Given the description of an element on the screen output the (x, y) to click on. 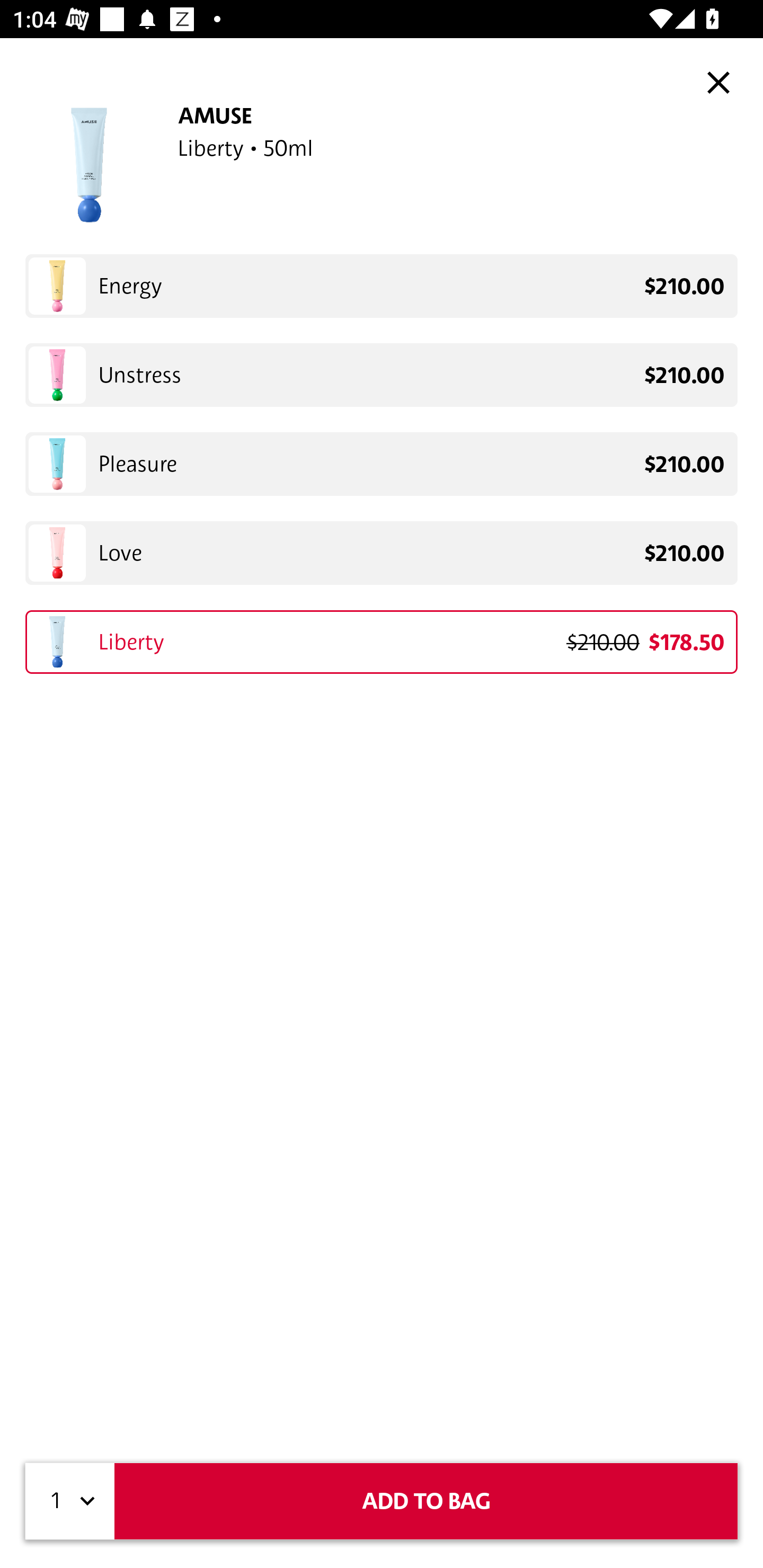
Bag (724, 81)
AMUSE Liberty • 50ml (381, 164)
Energy $210.00 (381, 285)
Unstress $210.00 (381, 375)
Pleasure $210.00 (381, 463)
Love $210.00 (381, 552)
Liberty $210.00 $178.50 (381, 641)
1 (69, 1500)
ADD TO BAG (425, 1500)
